Given the description of an element on the screen output the (x, y) to click on. 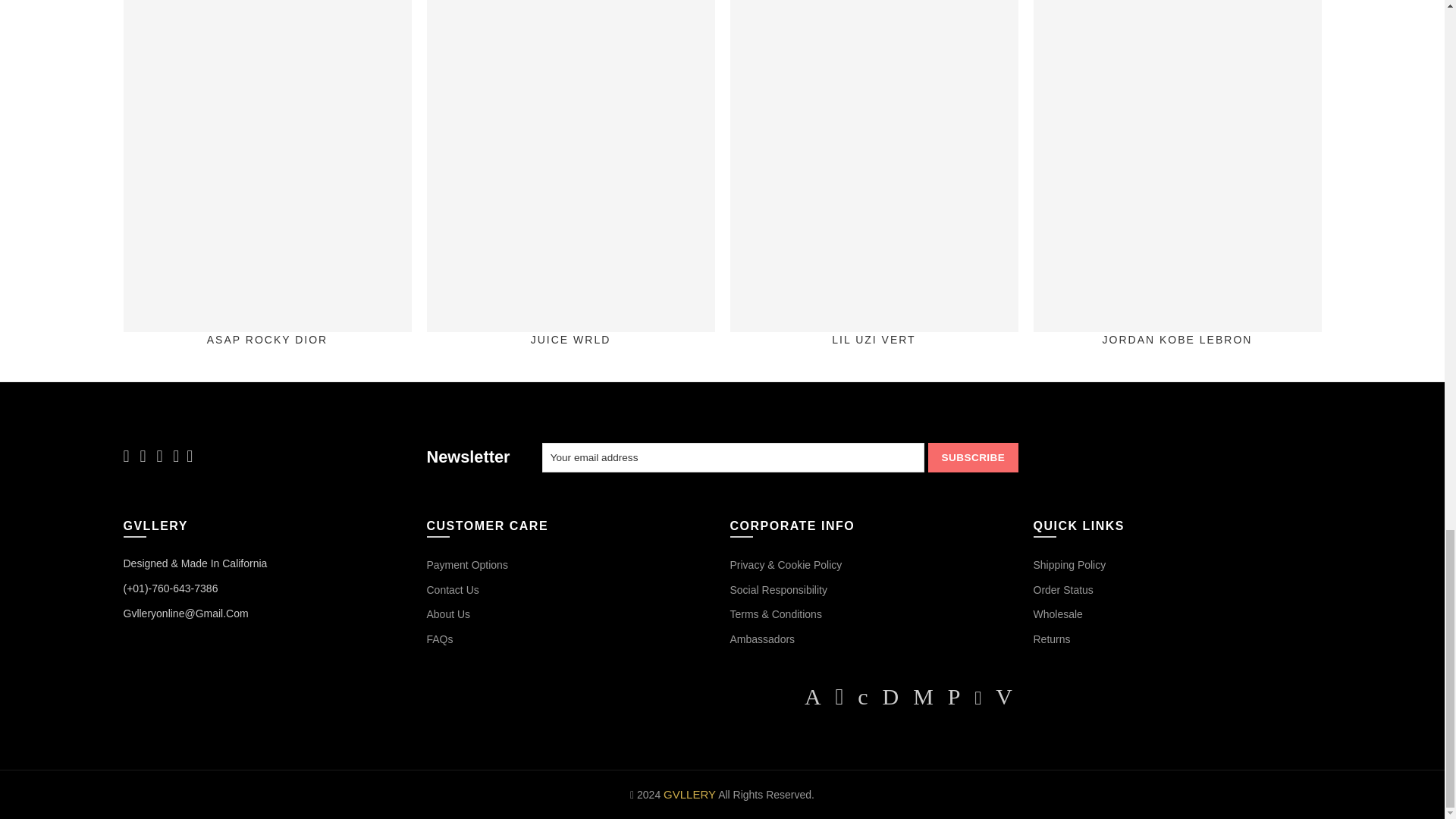
SUBSCRIBE (972, 457)
